Given the description of an element on the screen output the (x, y) to click on. 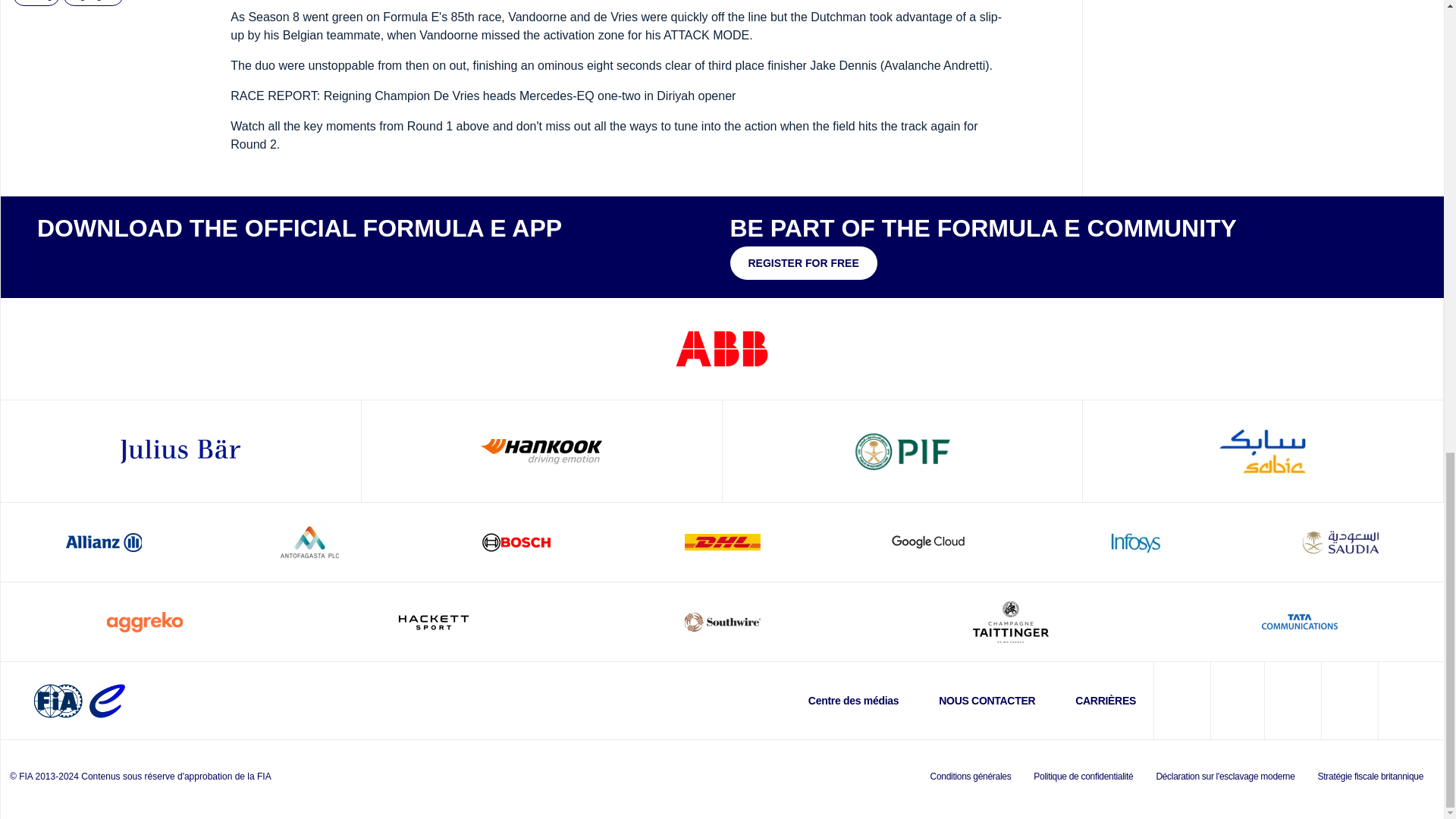
label.promo.google.link (175, 260)
Partenaire mondial (180, 450)
Public Investment Fund (902, 450)
Partenaire technique (541, 450)
label.promo.apple.link (81, 260)
label.discover.search highlights (92, 2)
Partenaire-titre (721, 348)
label.discover.search racing (36, 2)
Register for free (802, 263)
